Given the description of an element on the screen output the (x, y) to click on. 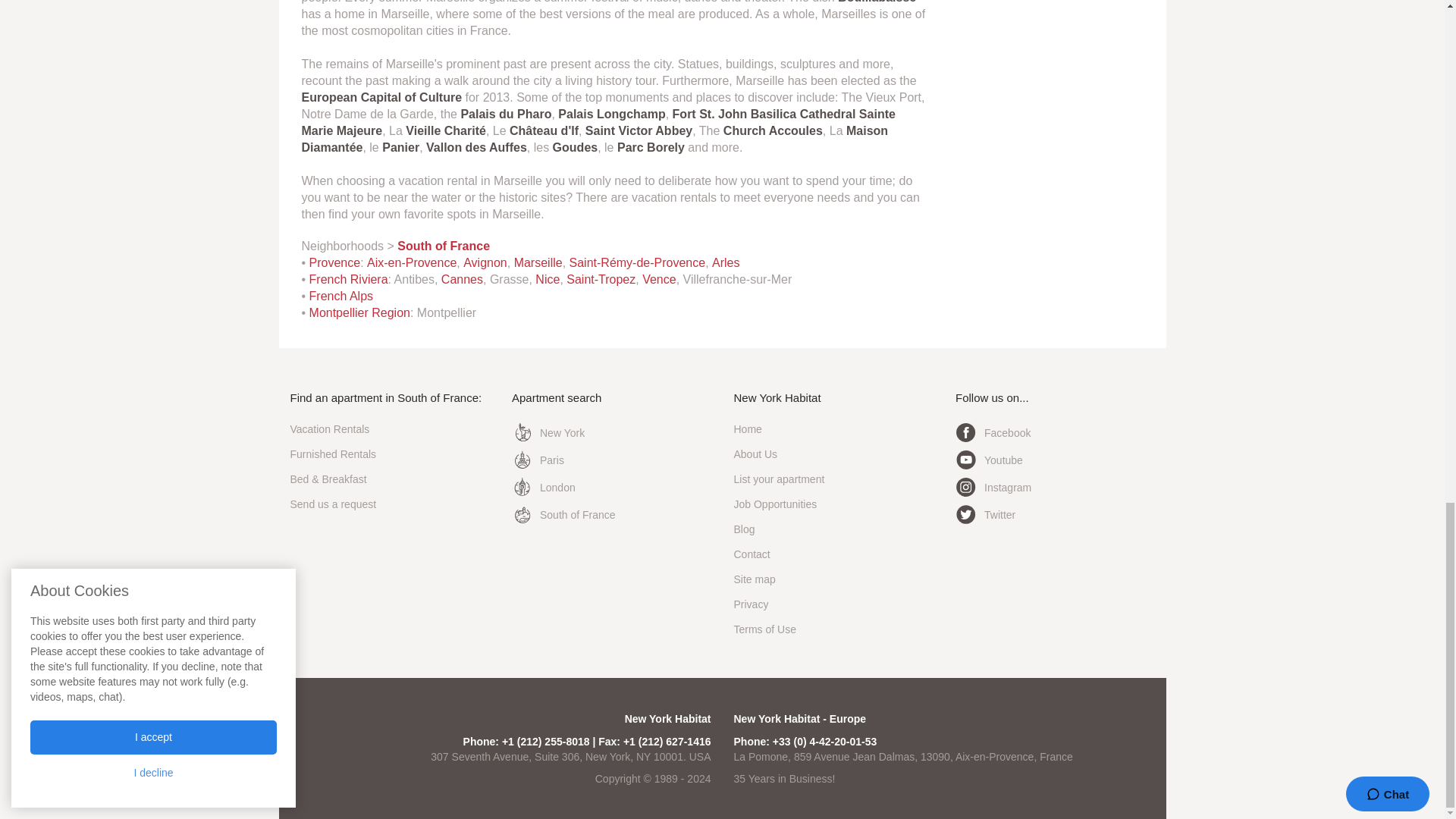
Follow New York Habitat on Twitter (984, 514)
Become a Fan of New York Habitat on Facebook (992, 432)
Watch New York Habitat Videos on Youtube (989, 460)
